Given the description of an element on the screen output the (x, y) to click on. 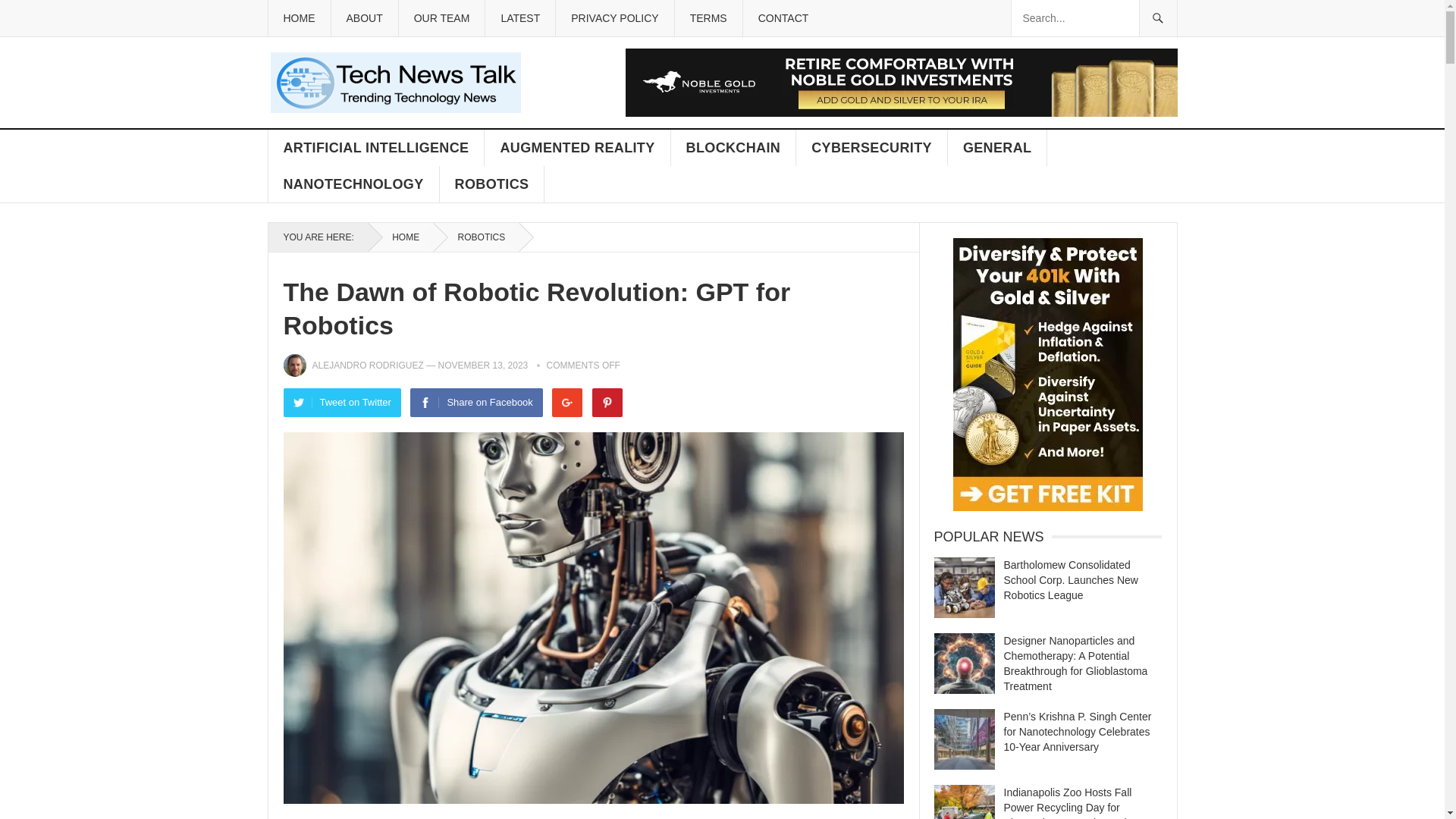
Posts by Alejandro Rodriguez (368, 365)
GENERAL (997, 147)
PRIVACY POLICY (613, 18)
ALEJANDRO RODRIGUEZ (368, 365)
ARTIFICIAL INTELLIGENCE (375, 147)
OUR TEAM (440, 18)
HOME (400, 236)
LATEST (519, 18)
ROBOTICS (476, 236)
ROBOTICS (491, 184)
